Given the description of an element on the screen output the (x, y) to click on. 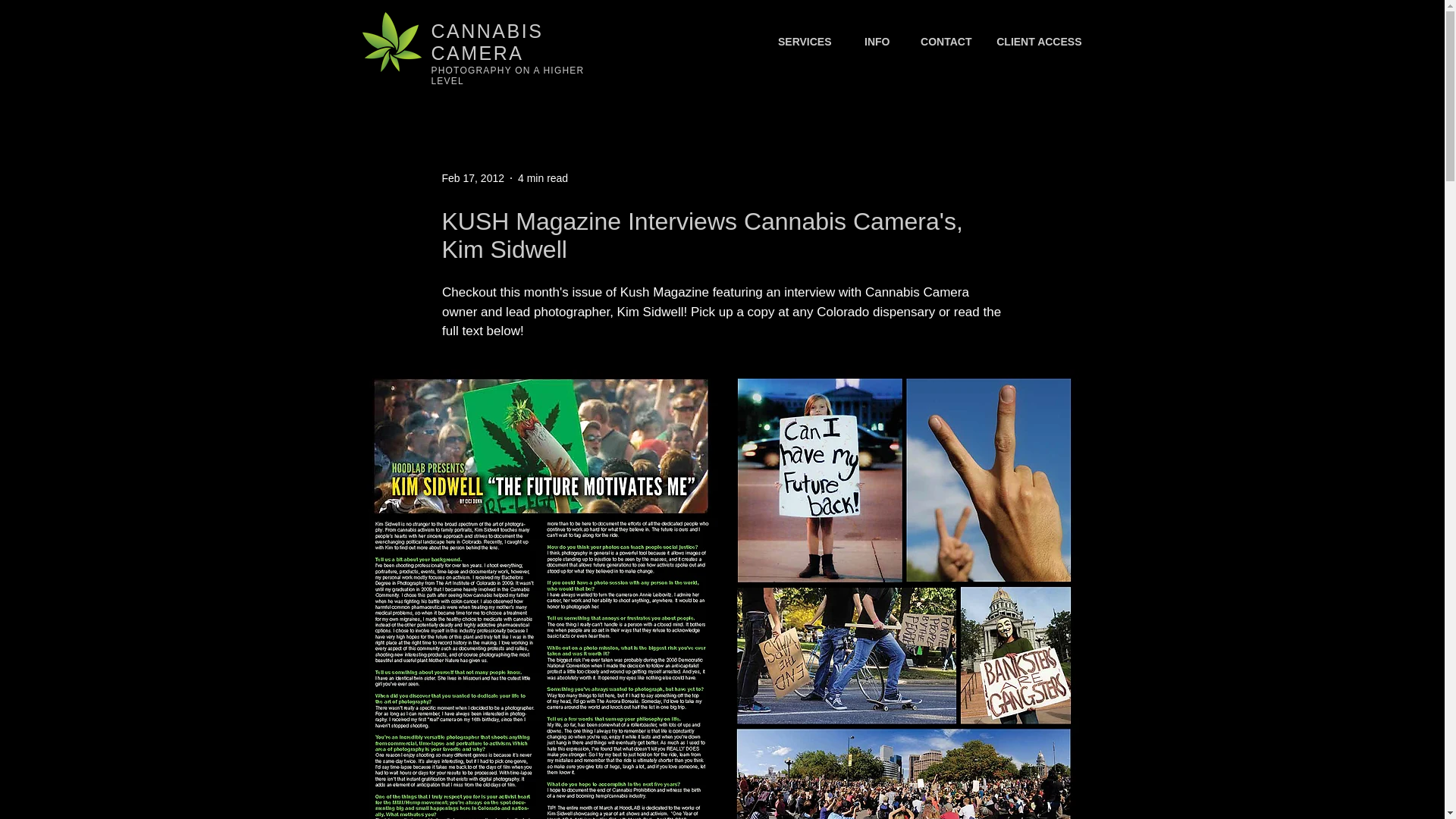
4 min read (542, 177)
Feb 17, 2012 (472, 177)
CANNABIS CAMERA (486, 41)
CLIENT ACCESS (1037, 41)
